Given the description of an element on the screen output the (x, y) to click on. 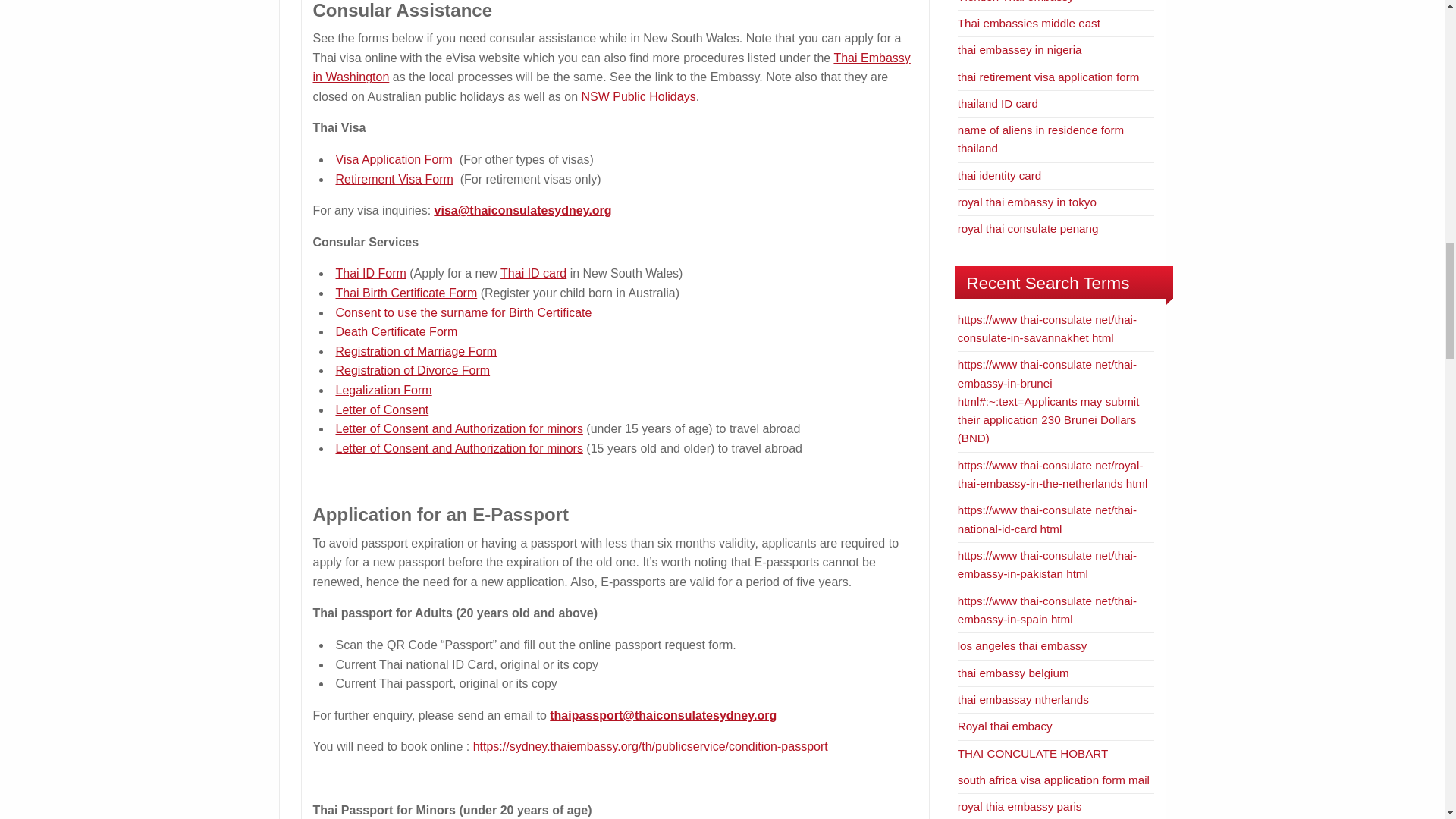
Thai ID card (533, 273)
NSW Public Holidays (637, 96)
Consent to use the surname for Birth Certificate (462, 312)
Retirement Visa Form (393, 178)
Thai Birth Certificate Form (405, 292)
Visa Application Form (392, 159)
Death Certificate Form (395, 331)
Thai ID Form (370, 273)
Thai Embassy in Washington (611, 67)
